Given the description of an element on the screen output the (x, y) to click on. 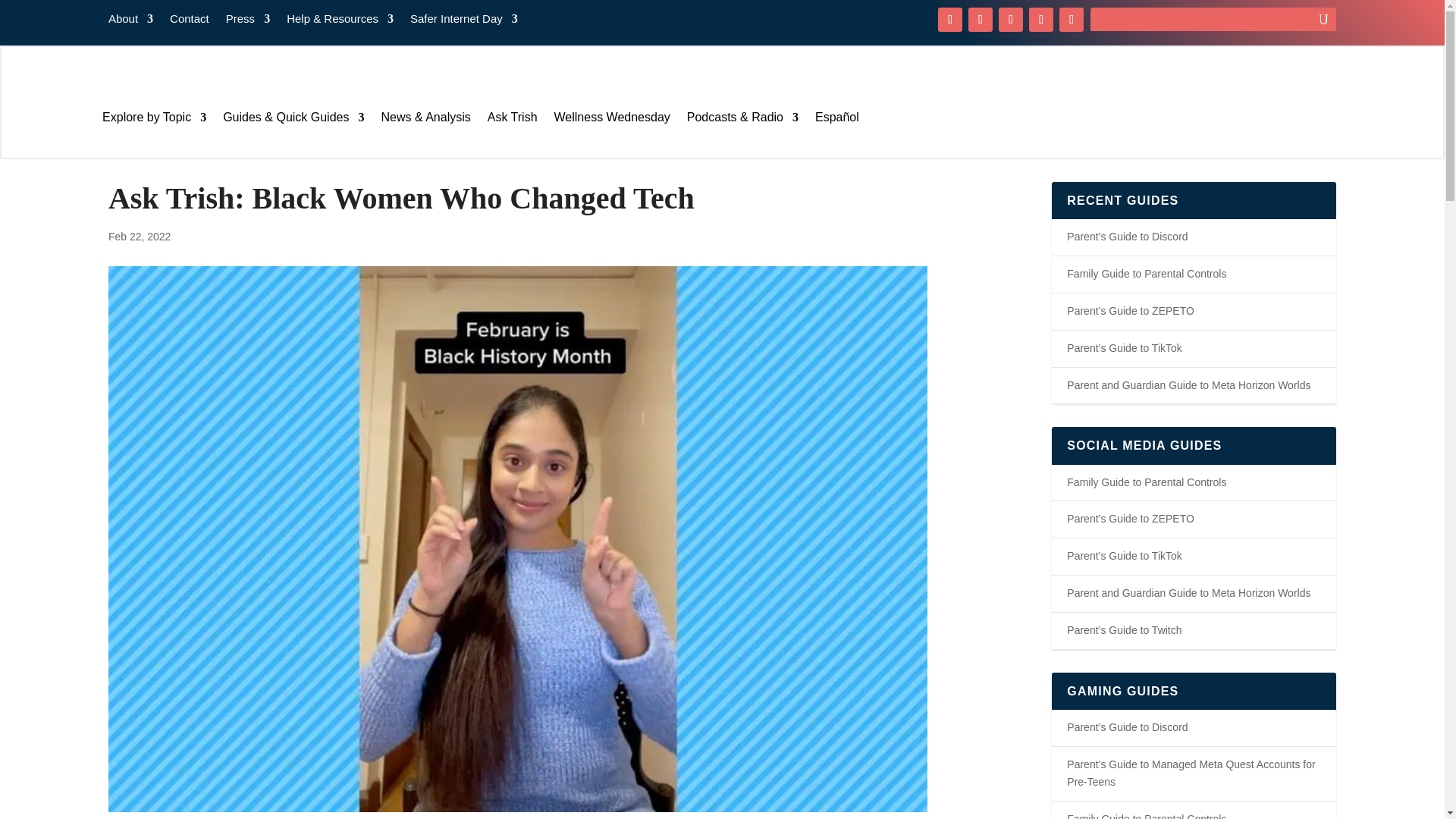
Follow on Instagram (1010, 19)
Follow on LinkedIn (1071, 19)
Contact (189, 21)
Follow on Youtube (1040, 19)
Follow on Facebook (949, 19)
About (129, 21)
Follow on X (980, 19)
Safer Internet Day (464, 21)
Press (247, 21)
